Given the description of an element on the screen output the (x, y) to click on. 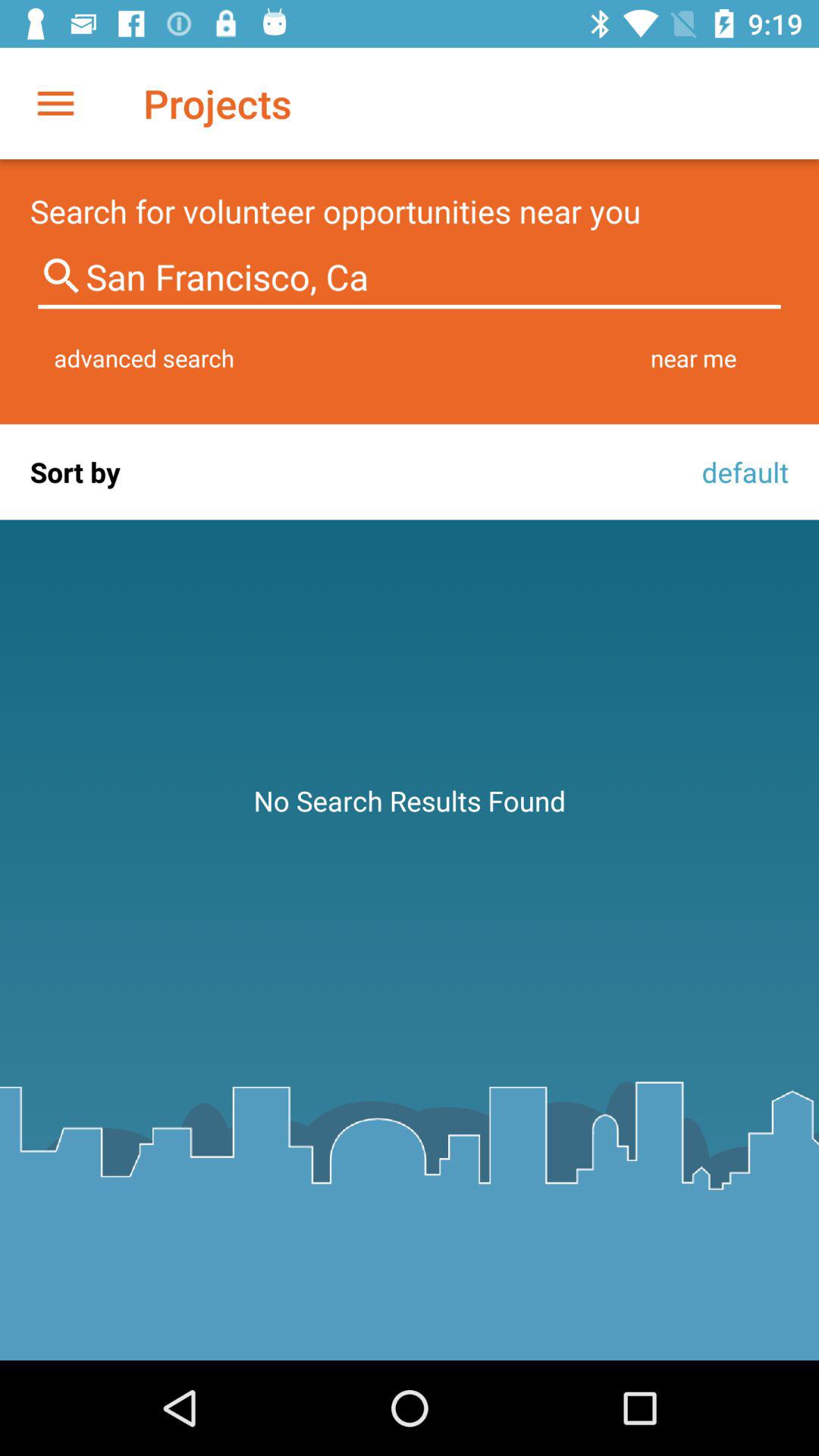
press item to the right of the advanced search item (692, 358)
